Given the description of an element on the screen output the (x, y) to click on. 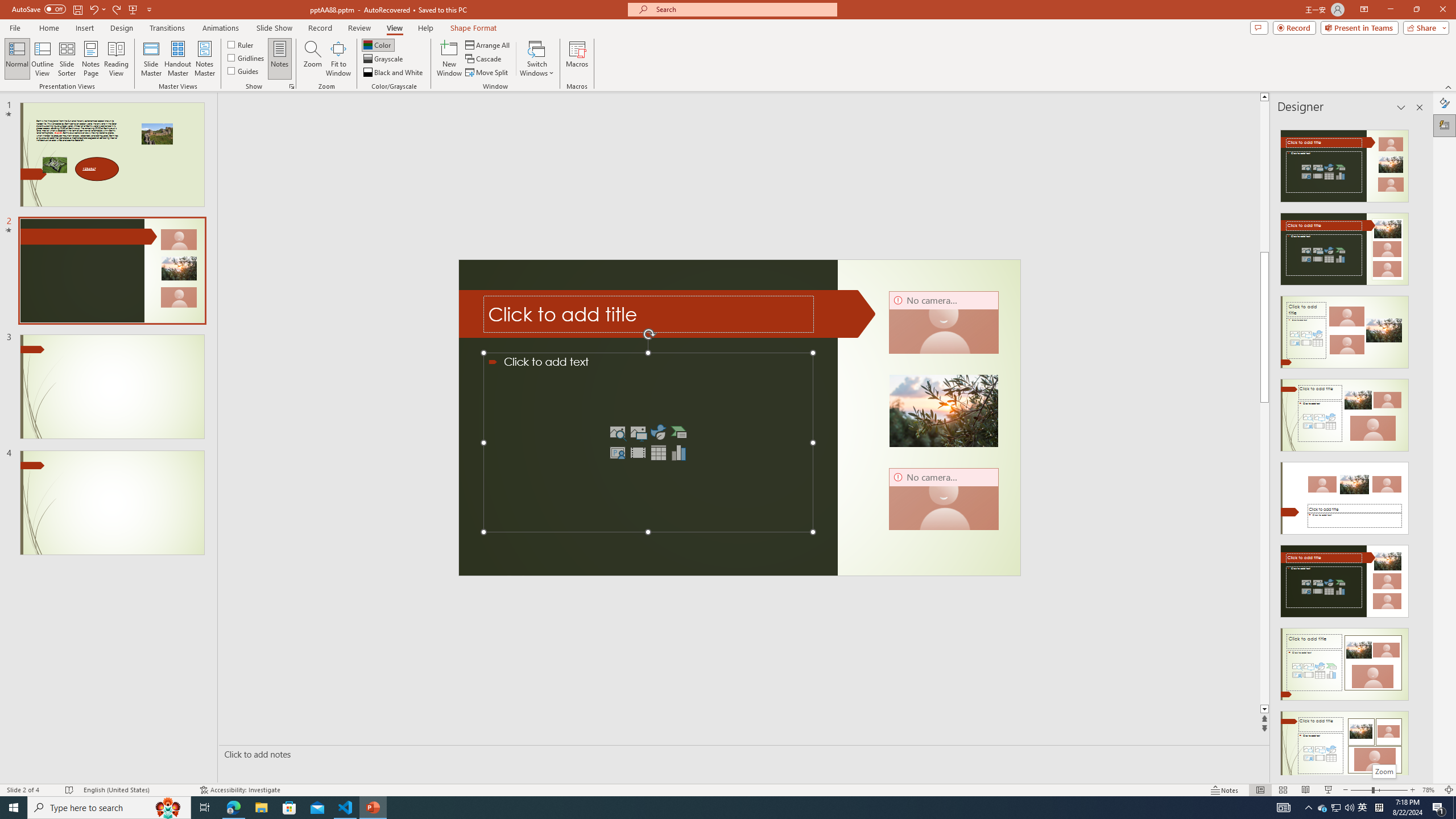
Grid Settings... (291, 85)
Move Split (487, 72)
Insert an Icon (658, 432)
Insert Chart (678, 452)
Ruler (241, 44)
Cascade (484, 58)
Guides (243, 69)
